Given the description of an element on the screen output the (x, y) to click on. 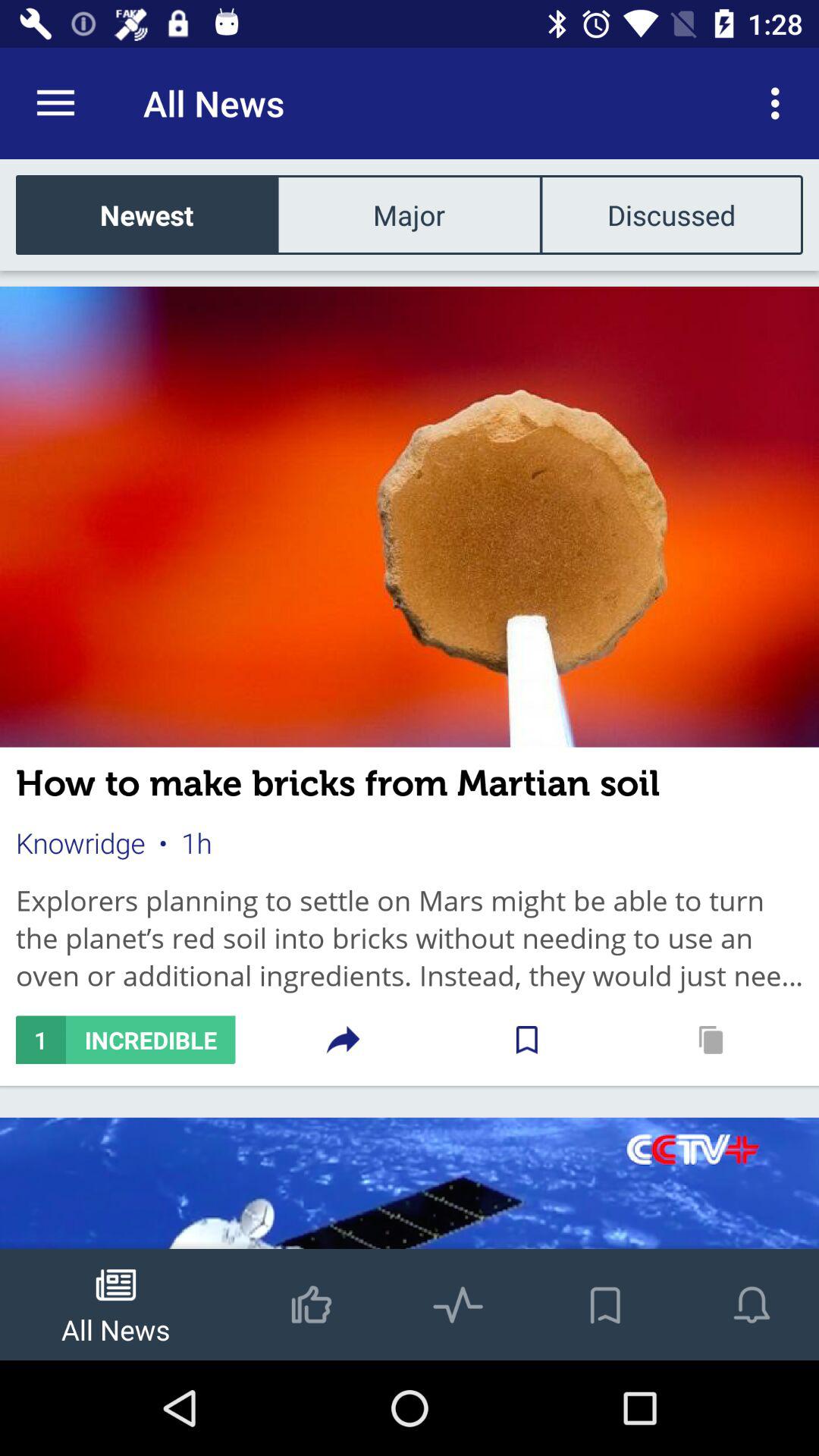
turn on discussed icon (671, 214)
